Given the description of an element on the screen output the (x, y) to click on. 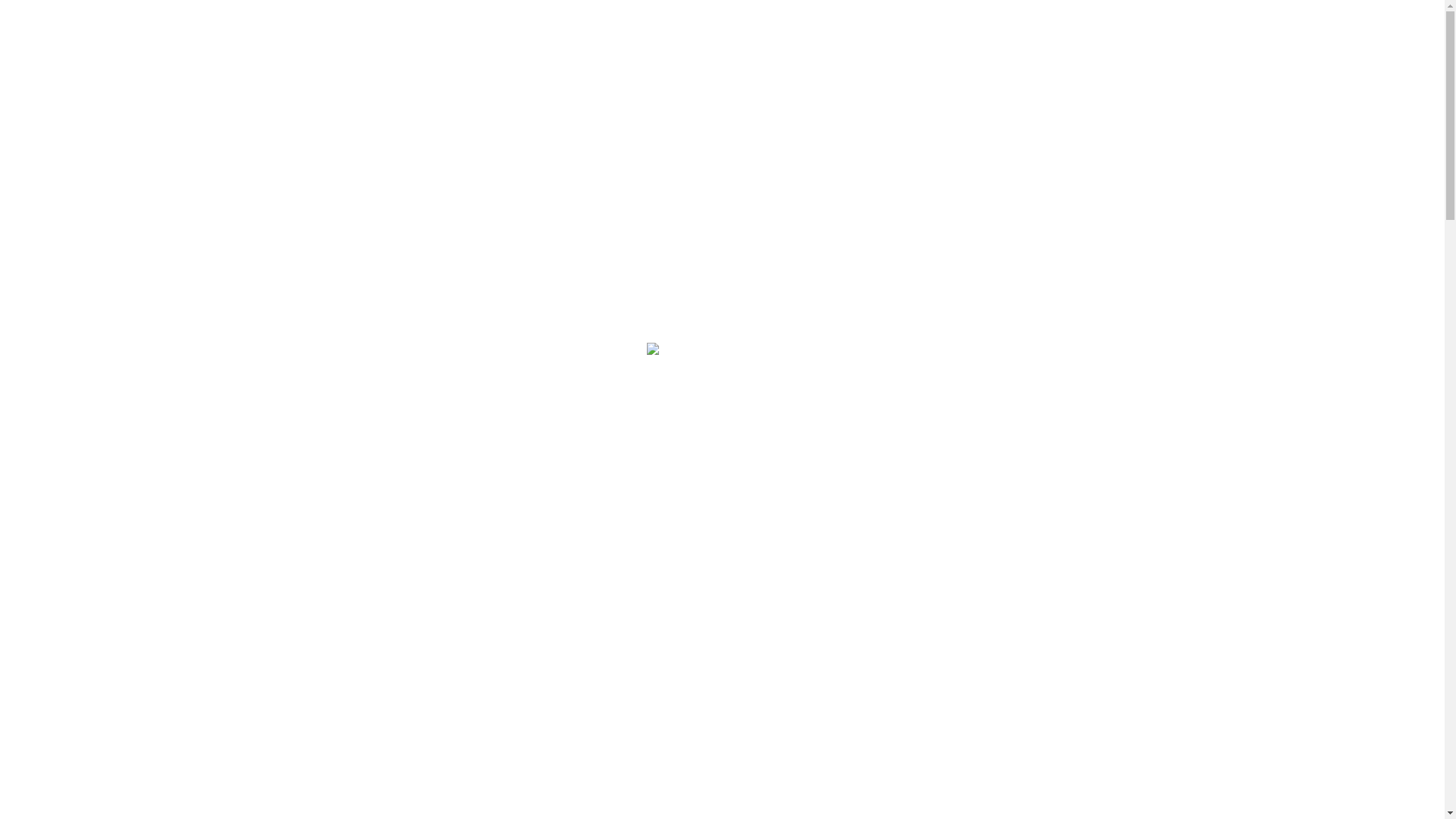
Contact Element type: text (976, 41)
Refuser Element type: text (1190, 794)
Particuliers Element type: text (695, 41)
DEMANDER UNE OFFRE Element type: text (1314, 786)
Accueil Element type: text (623, 41)
Professionnels Element type: text (789, 41)
ESPACE CLIENT Element type: text (1061, 41)
Aide Element type: text (922, 41)
Accepter Element type: text (1122, 794)
